Given the description of an element on the screen output the (x, y) to click on. 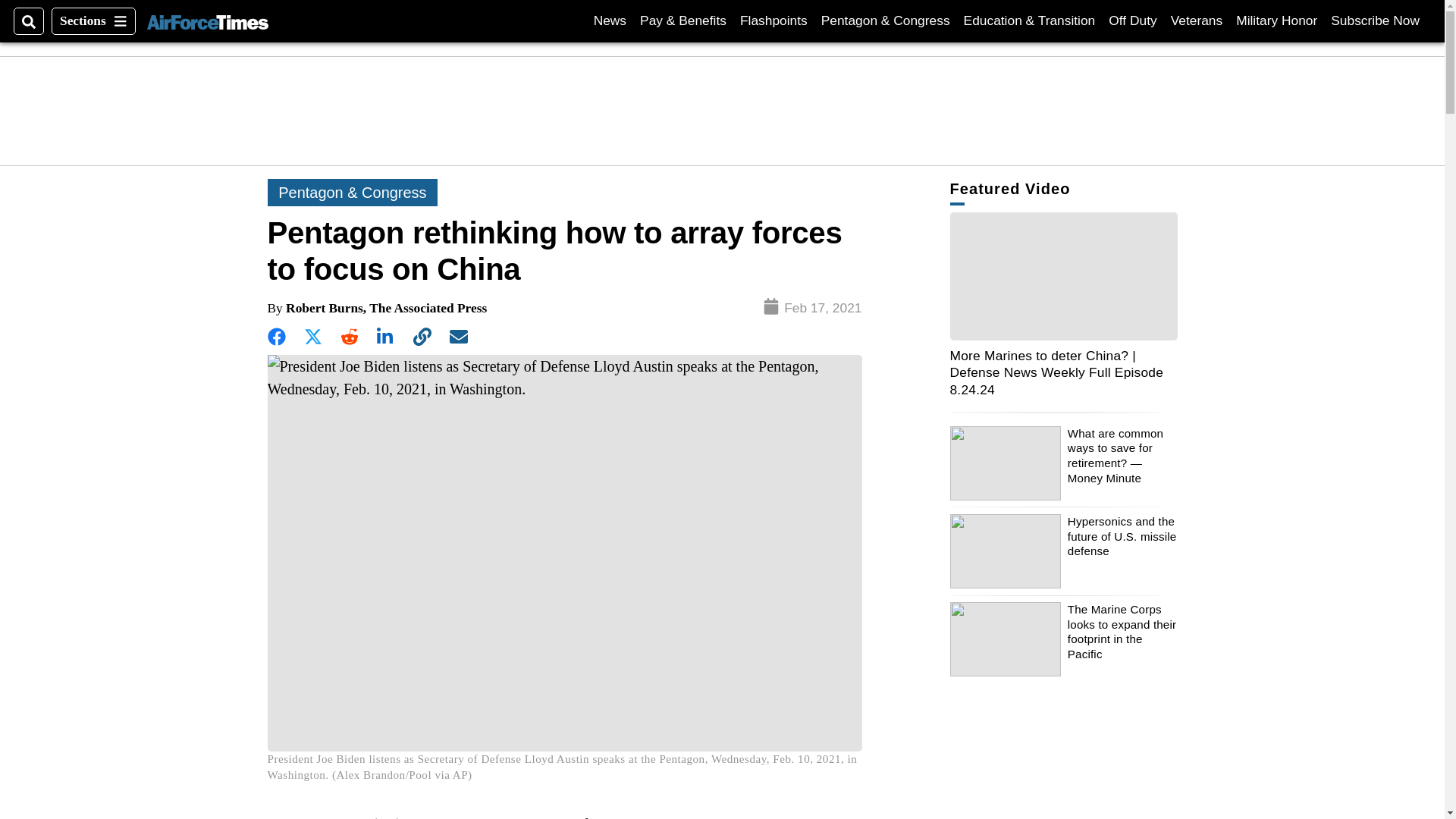
News (610, 20)
Air Force Times Logo (207, 20)
Off Duty (1374, 20)
Veterans (1132, 20)
Military Honor (1196, 20)
Sections (1276, 20)
Flashpoints (92, 21)
